Given the description of an element on the screen output the (x, y) to click on. 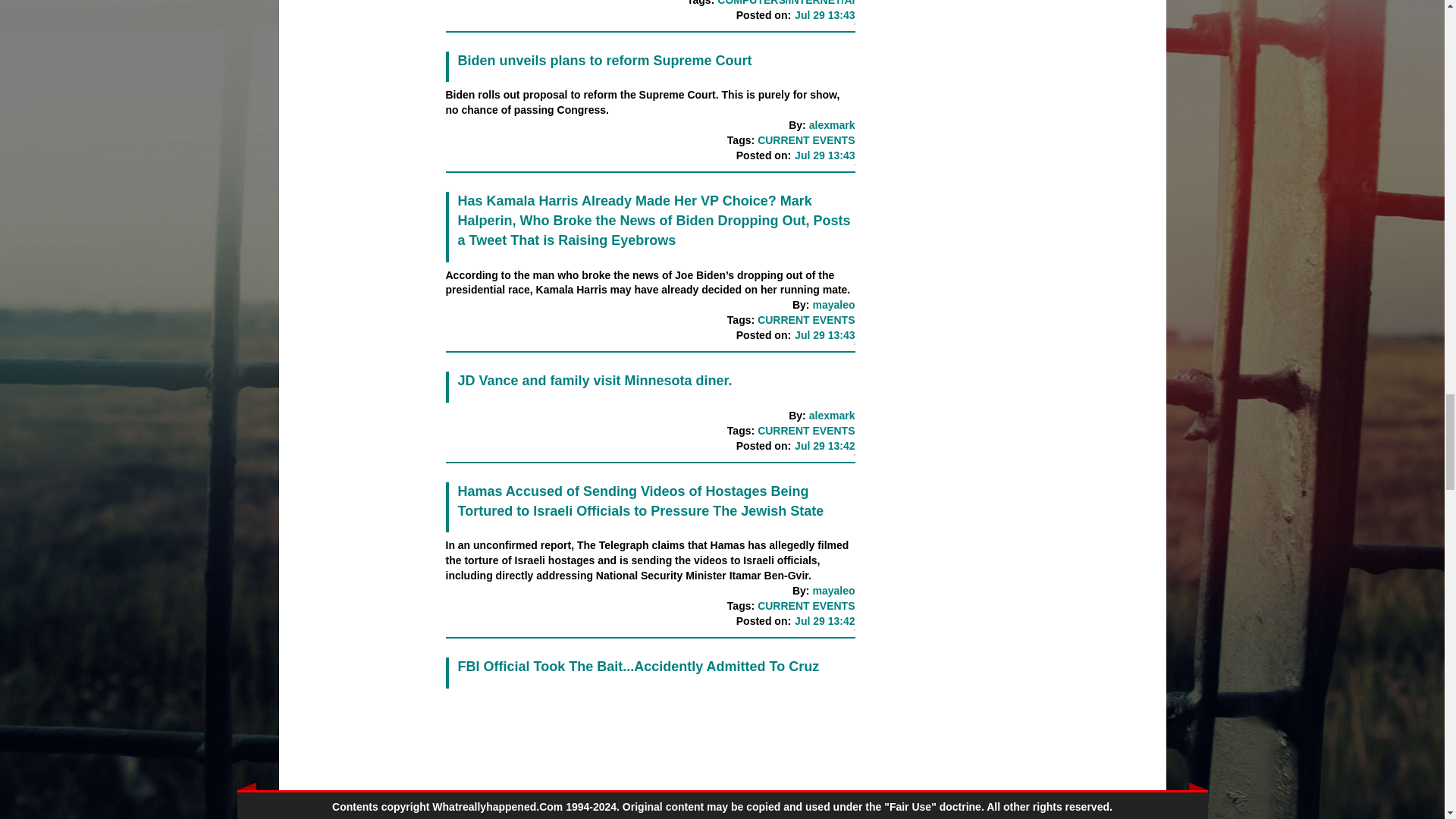
YouTube video player (650, 756)
